Given the description of an element on the screen output the (x, y) to click on. 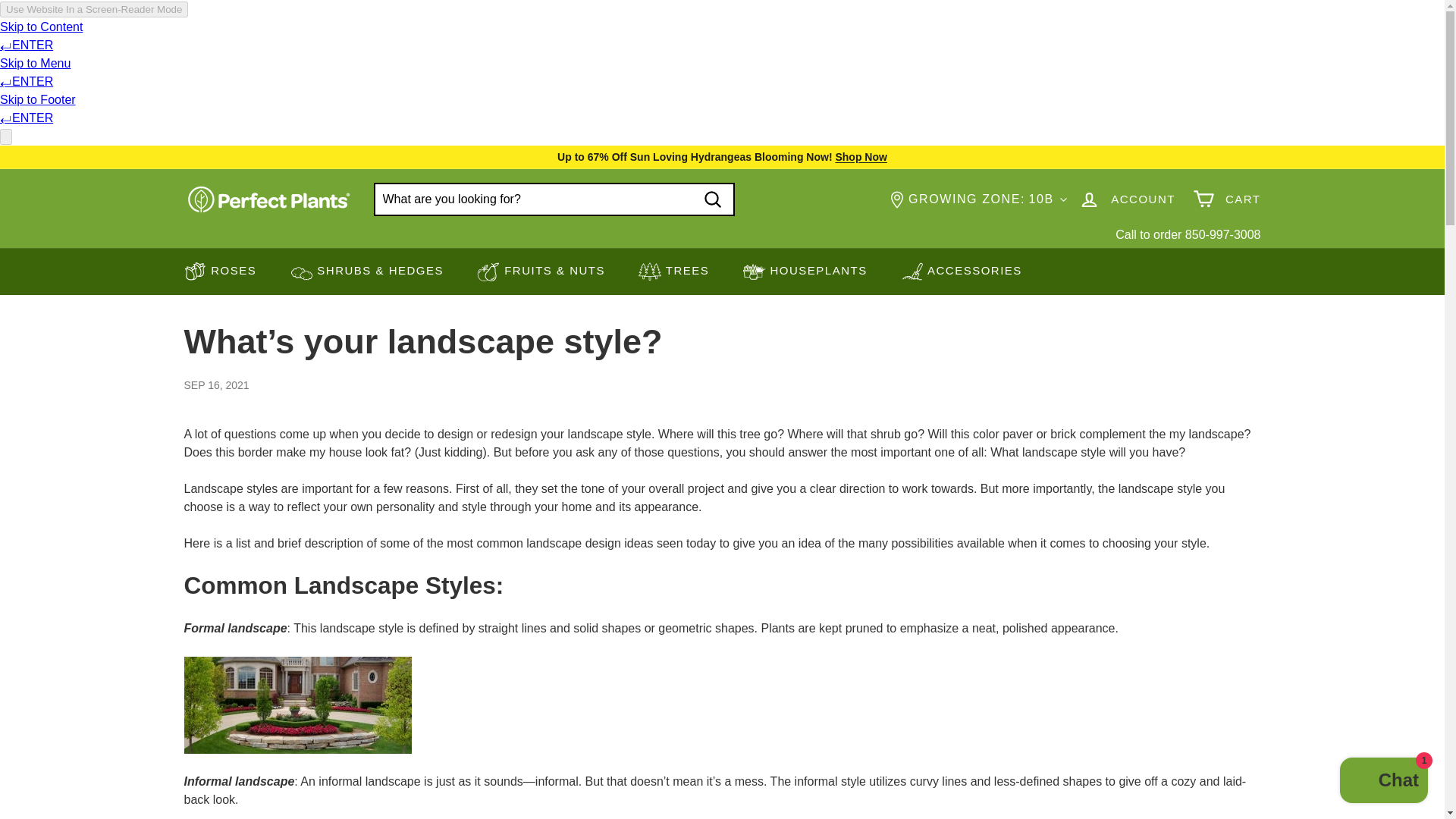
ROSES (219, 271)
Shop Now (860, 156)
Call to order 850-997-3008 (1187, 234)
Shopify online store chat (1383, 781)
Hydrangea Shrubs for Sale Online (860, 156)
GROWING ZONE: 10B (979, 198)
ACCOUNT (1127, 198)
